Given the description of an element on the screen output the (x, y) to click on. 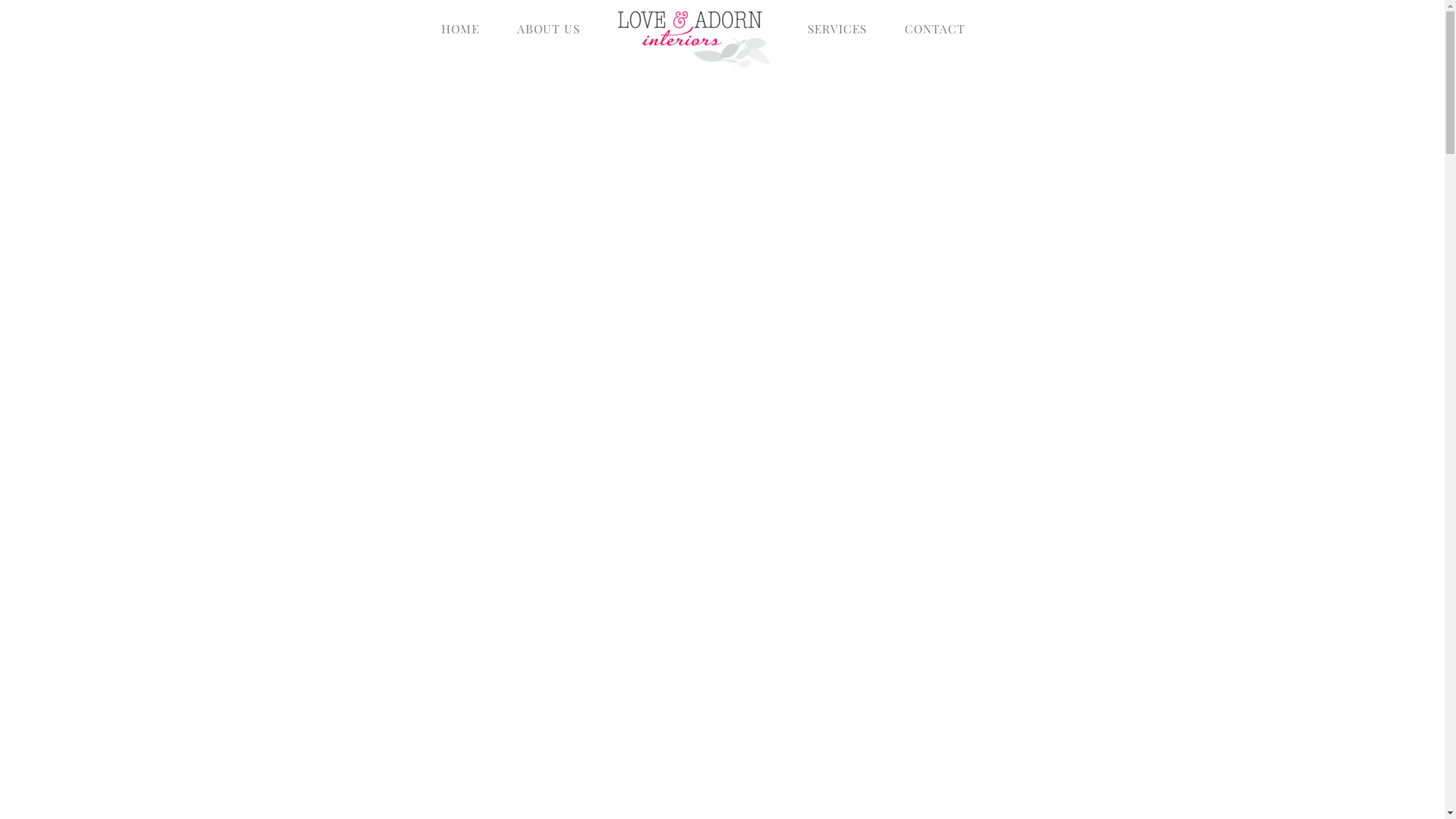
HOME Element type: text (460, 28)
SERVICES Element type: text (836, 28)
CONTACT Element type: text (934, 28)
ABOUT US Element type: text (548, 28)
